Given the description of an element on the screen output the (x, y) to click on. 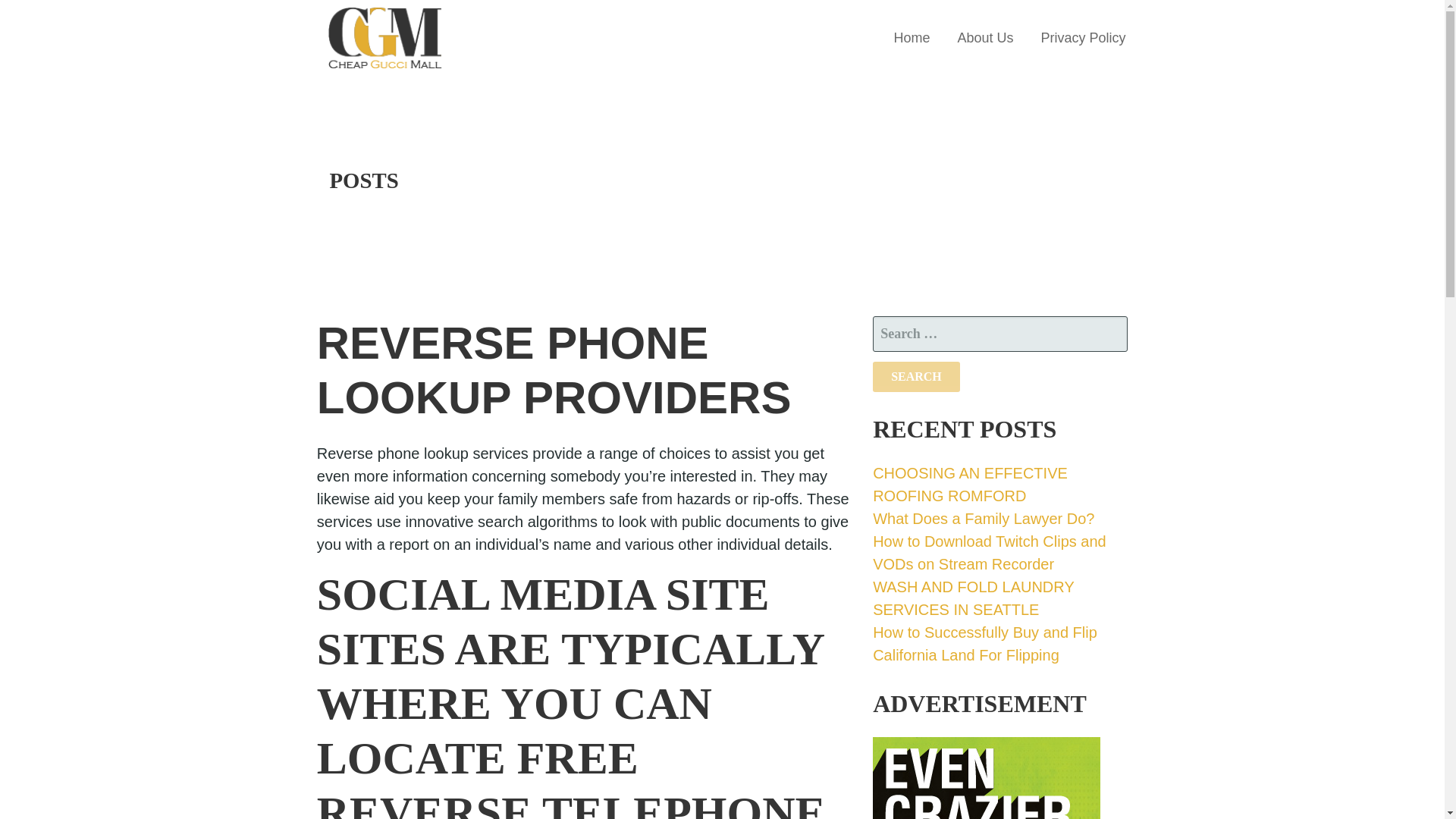
Advertisement (986, 778)
Search (915, 376)
Home (911, 38)
Search (915, 376)
How to Download Twitch Clips and VODs on Stream Recorder (989, 552)
WASH AND FOLD LAUNDRY SERVICES IN SEATTLE (973, 598)
Search (915, 376)
CHEAP GUCCI MALL (428, 86)
Privacy Policy (1082, 38)
What Does a Family Lawyer Do? (983, 518)
About Us (984, 38)
CHOOSING AN EFFECTIVE ROOFING ROMFORD (969, 484)
